Given the description of an element on the screen output the (x, y) to click on. 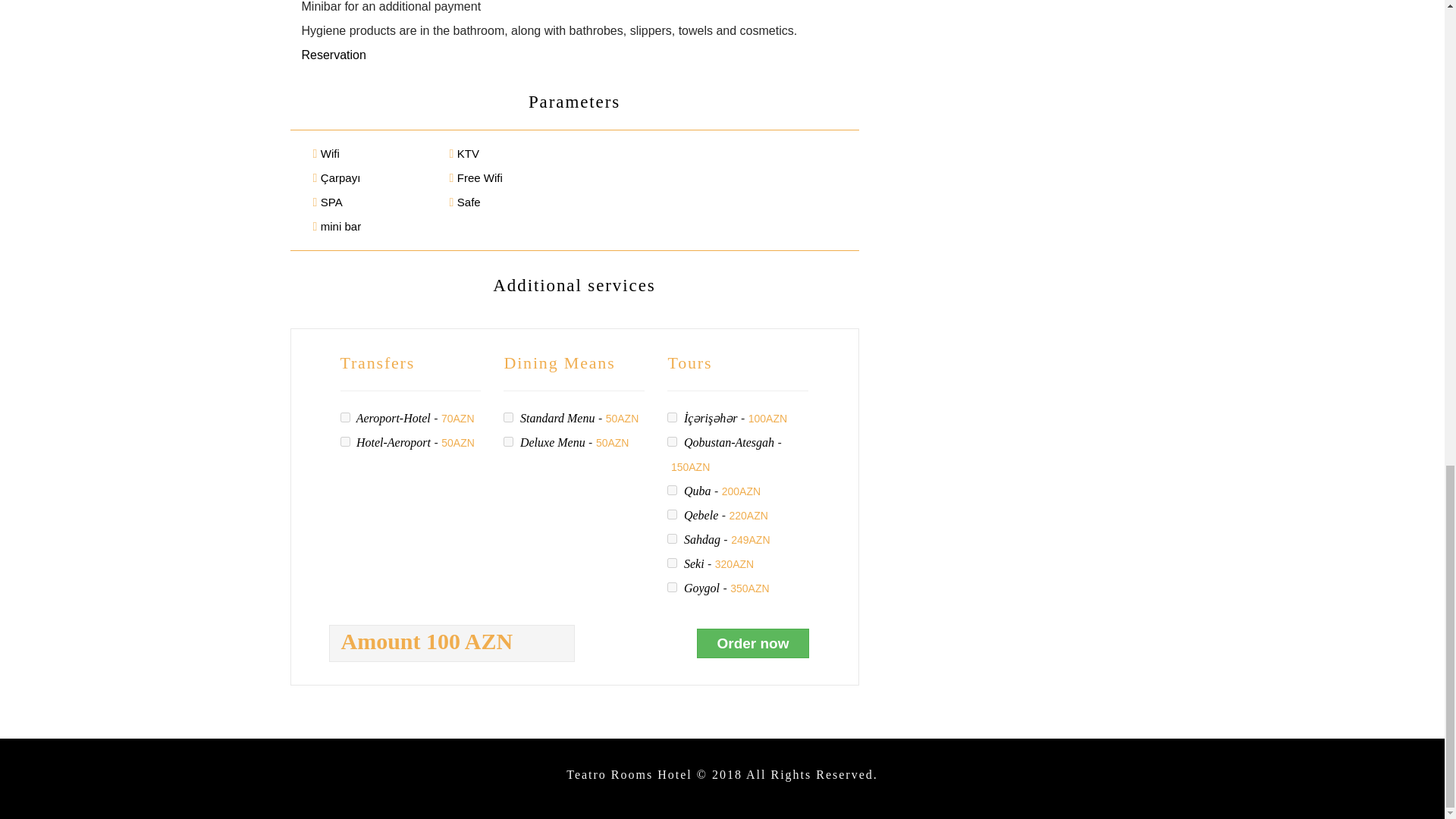
Order now (752, 643)
1 (344, 441)
1 (344, 417)
1 (671, 441)
1 (671, 562)
1 (671, 538)
1 (508, 417)
1 (508, 441)
1 (671, 514)
1 (671, 490)
